Given the description of an element on the screen output the (x, y) to click on. 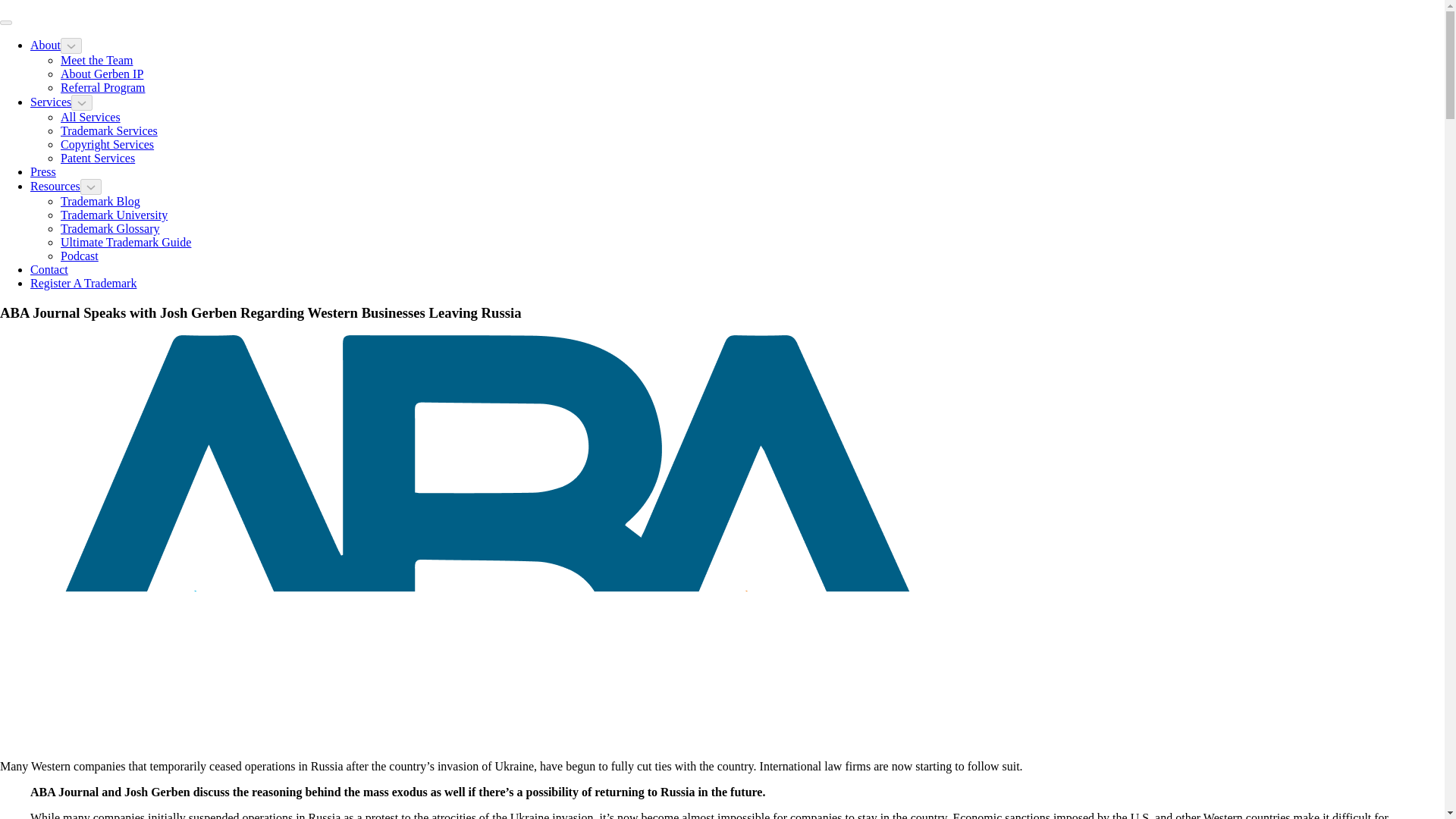
Trademark Glossary (110, 228)
Resources (55, 185)
Contact (49, 269)
Press (43, 171)
Register A Trademark (83, 282)
Podcast (80, 255)
Patent Services (98, 157)
All Services (90, 116)
Copyright Services (107, 144)
Trademark University (114, 214)
About (45, 44)
Ultimate Trademark Guide (125, 241)
Referral Program (103, 87)
About Gerben IP (101, 73)
Meet the Team (96, 60)
